Given the description of an element on the screen output the (x, y) to click on. 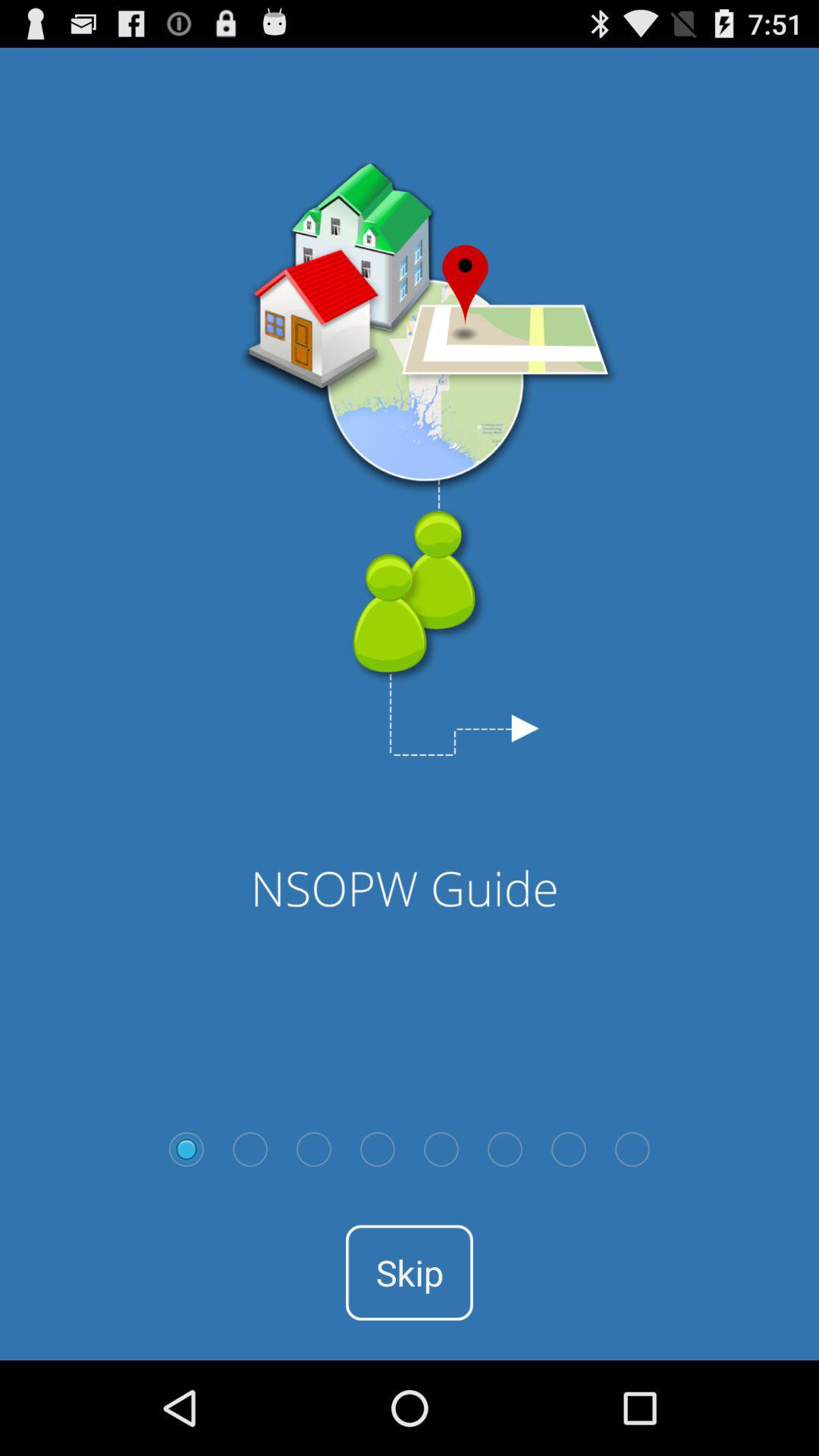
next (568, 1149)
